Given the description of an element on the screen output the (x, y) to click on. 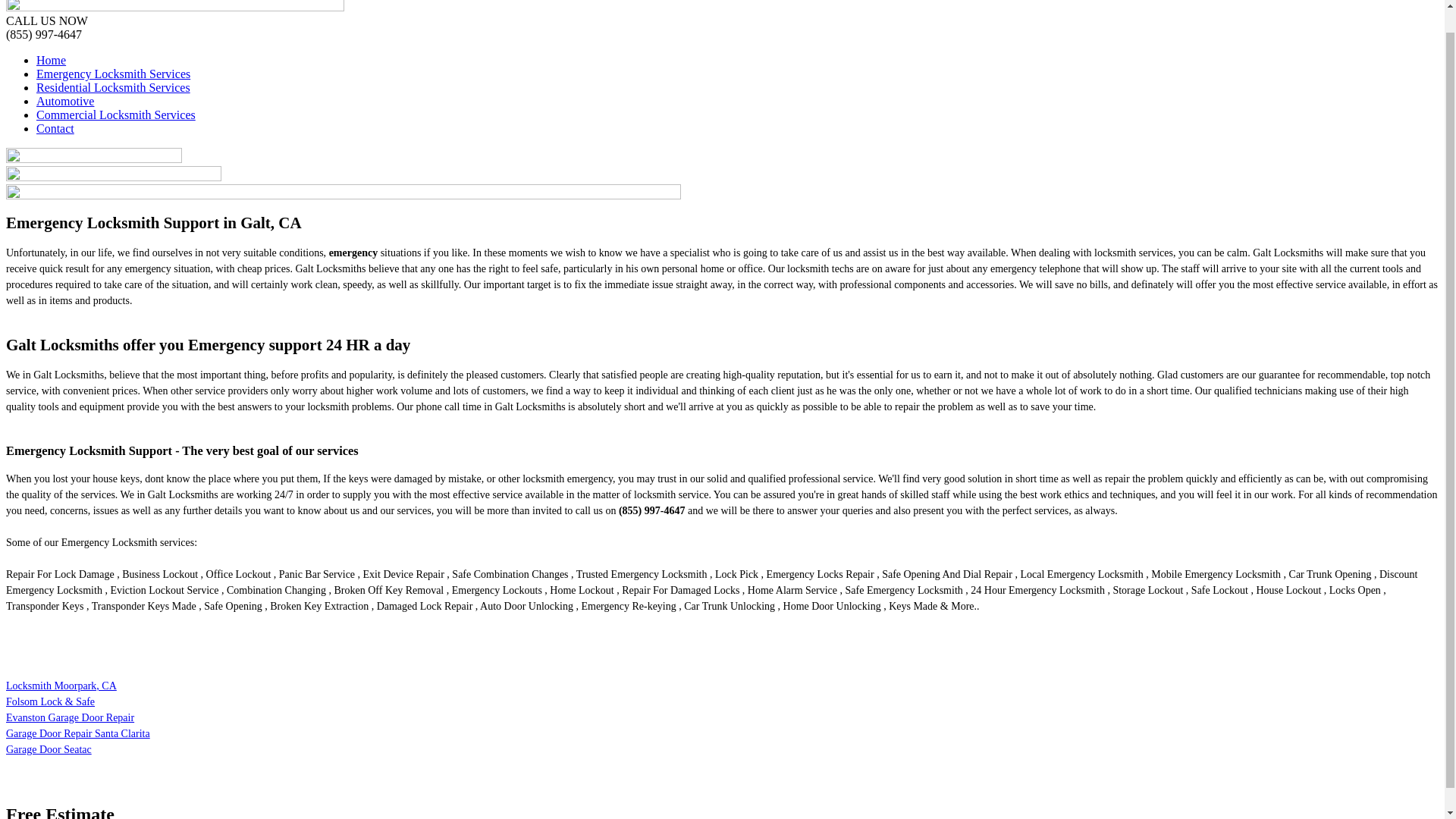
Locksmith Moorpark, CA (60, 685)
Garage Door Seatac (48, 749)
Automotive (65, 101)
Residential Locksmith Services (113, 87)
Emergency Locksmith Services (113, 73)
Locksmith Moorpark, CA (60, 685)
Residential Locksmith Services (113, 87)
Home (50, 60)
Evanston Garage Door Repair (69, 717)
Contact (55, 128)
Garage Door Repair Santa Clarita (77, 733)
Automotive (65, 101)
Galt Locksmiths (174, 6)
Emergency Locksmith Services (113, 73)
Garage Door Repair Santa Clarita  (77, 733)
